Given the description of an element on the screen output the (x, y) to click on. 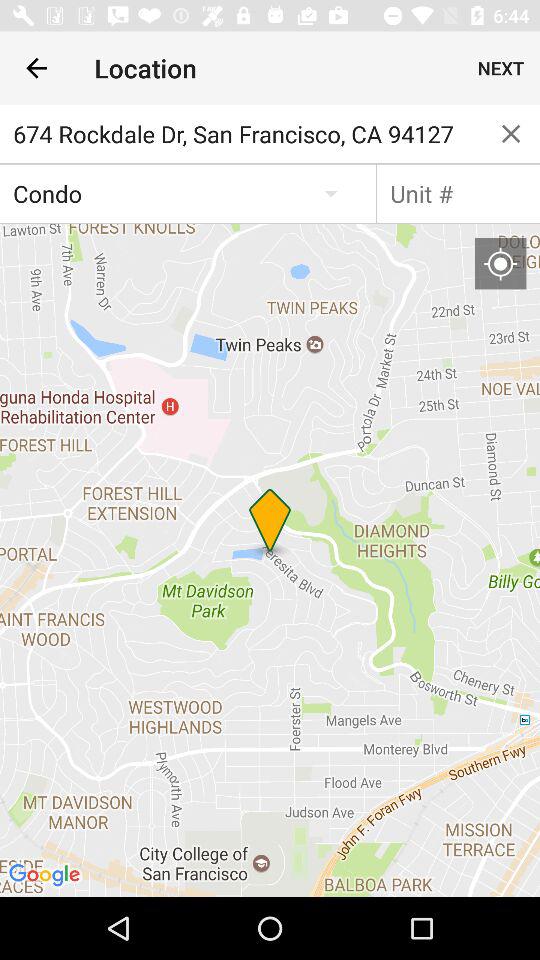
press item below the next icon (511, 133)
